Given the description of an element on the screen output the (x, y) to click on. 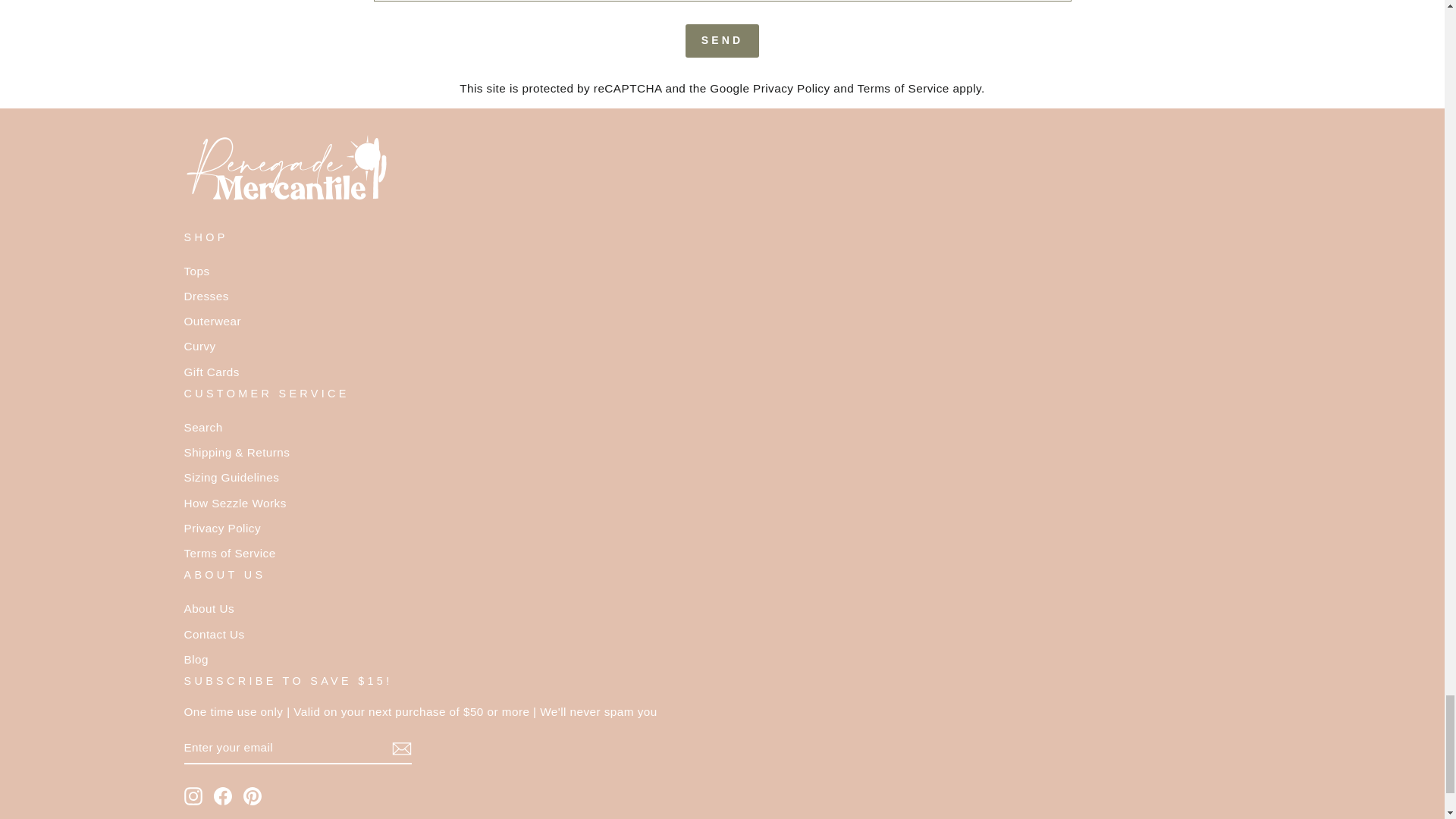
Renegade Mercantile on Instagram (192, 796)
Renegade Mercantile on Facebook (222, 796)
Renegade Mercantile on Pinterest (251, 796)
